Given the description of an element on the screen output the (x, y) to click on. 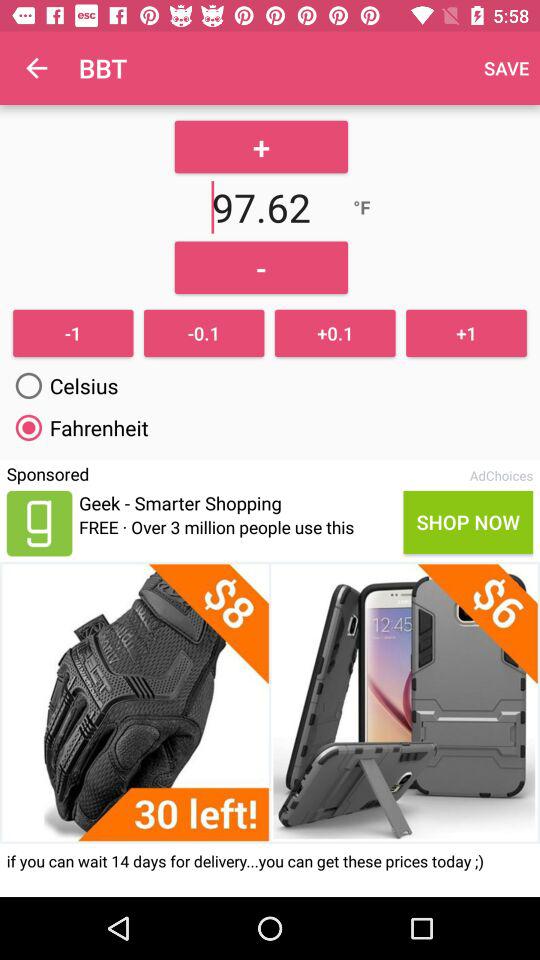
go to geek (39, 523)
